Given the description of an element on the screen output the (x, y) to click on. 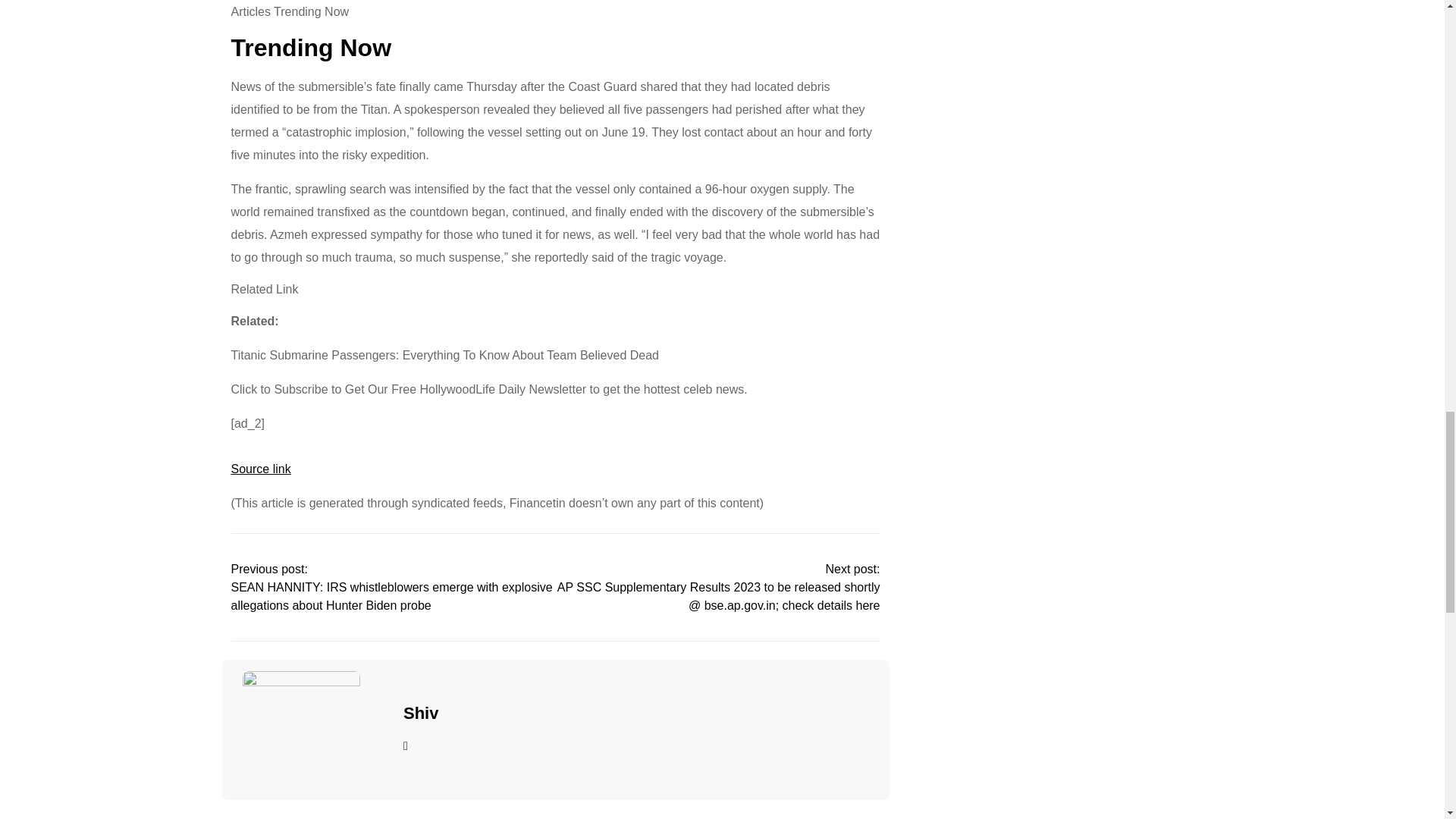
Source link (259, 468)
Shiv (420, 713)
